Given the description of an element on the screen output the (x, y) to click on. 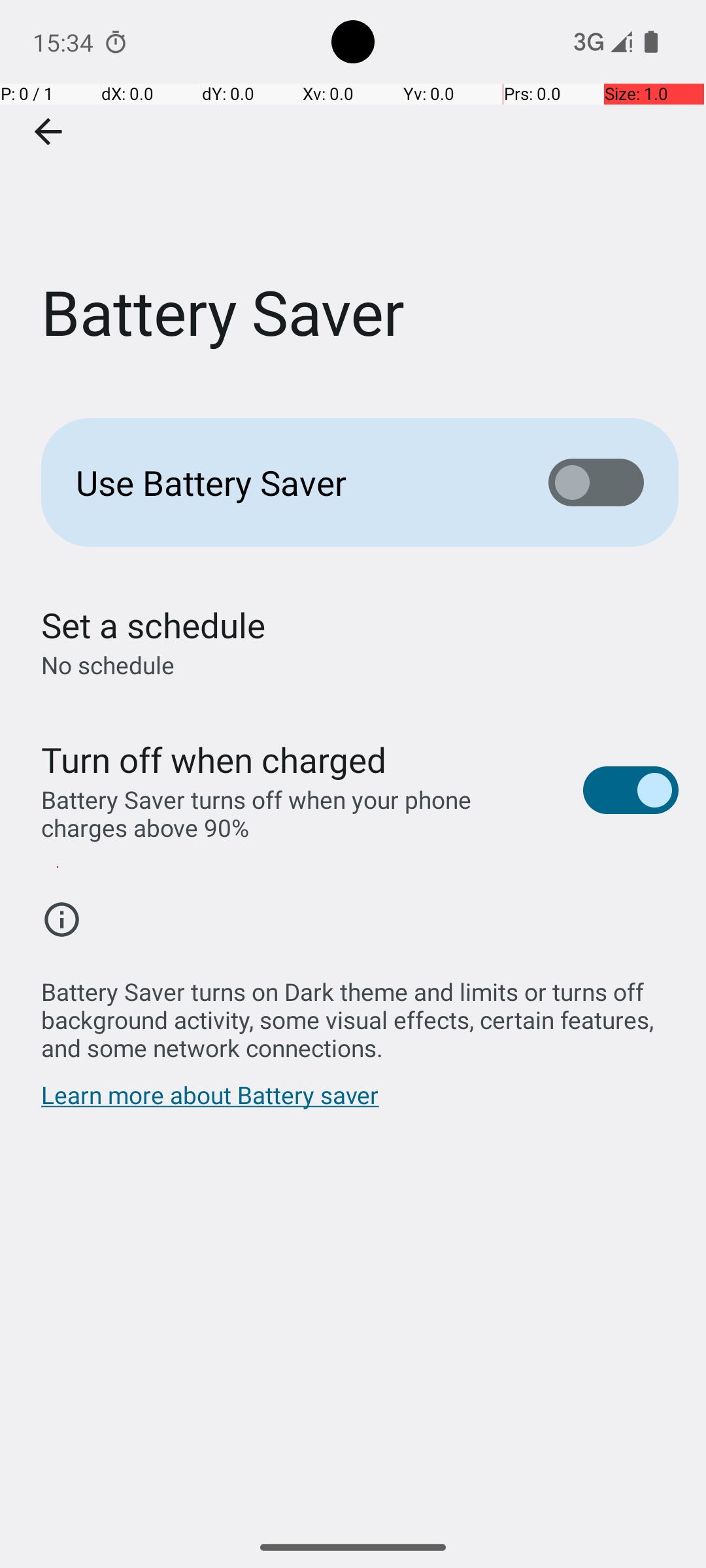
Use Battery Saver Element type: android.widget.TextView (291, 482)
Turn off when charged Element type: android.widget.TextView (213, 759)
Battery Saver turns off when your phone charges above 90% Element type: android.widget.TextView (298, 813)
Battery Saver turns on Dark theme and limits or turns off background activity, some visual effects, certain features, and some network connections. Element type: android.widget.TextView (359, 1012)
Learn more about Battery saver Element type: android.widget.TextView (210, 1101)
